Given the description of an element on the screen output the (x, y) to click on. 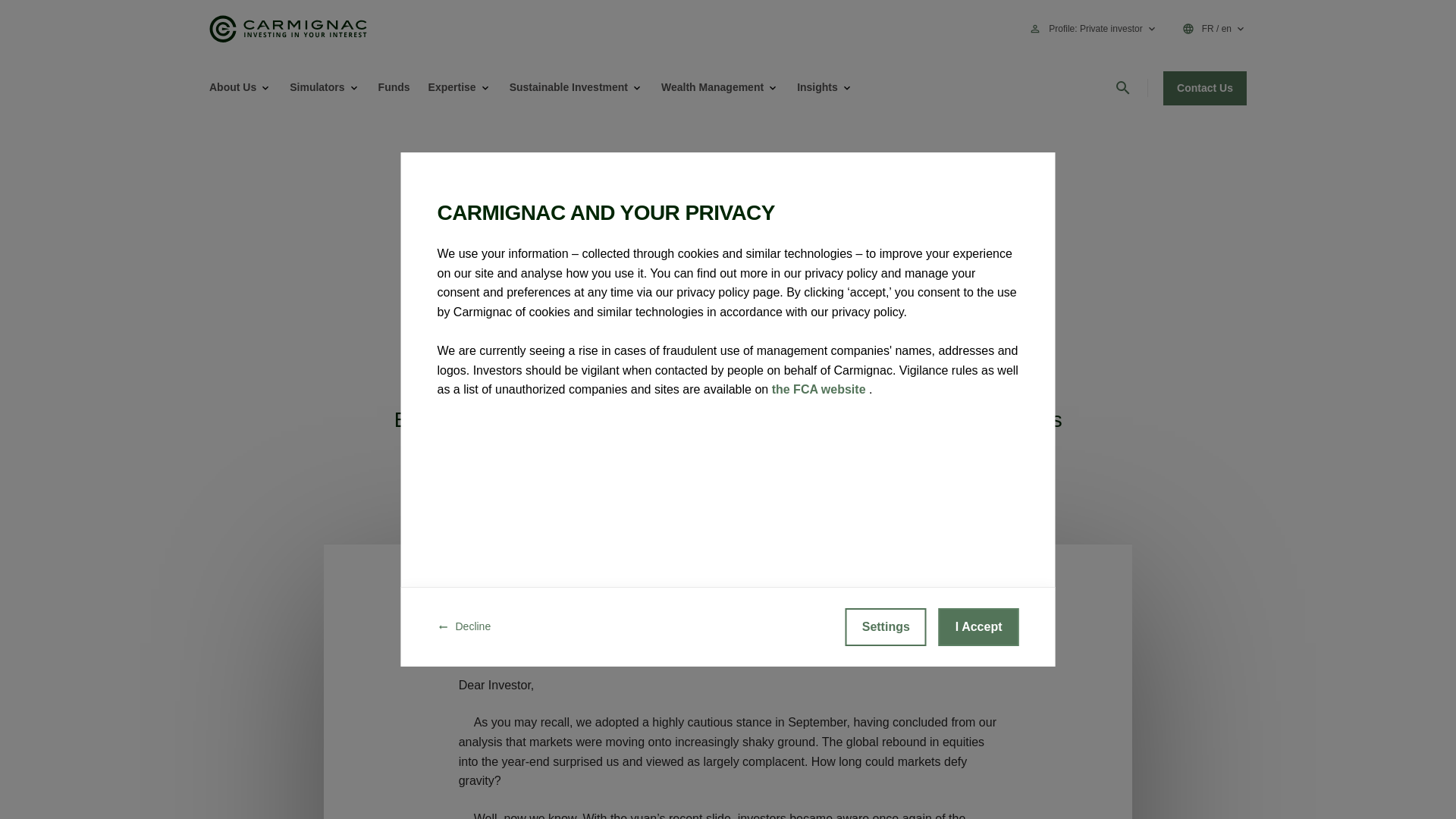
Profile: Private investor (1102, 28)
Simulators (316, 87)
I Accept (979, 627)
Decline (463, 627)
the FCA website (820, 389)
Settings (885, 627)
